Given the description of an element on the screen output the (x, y) to click on. 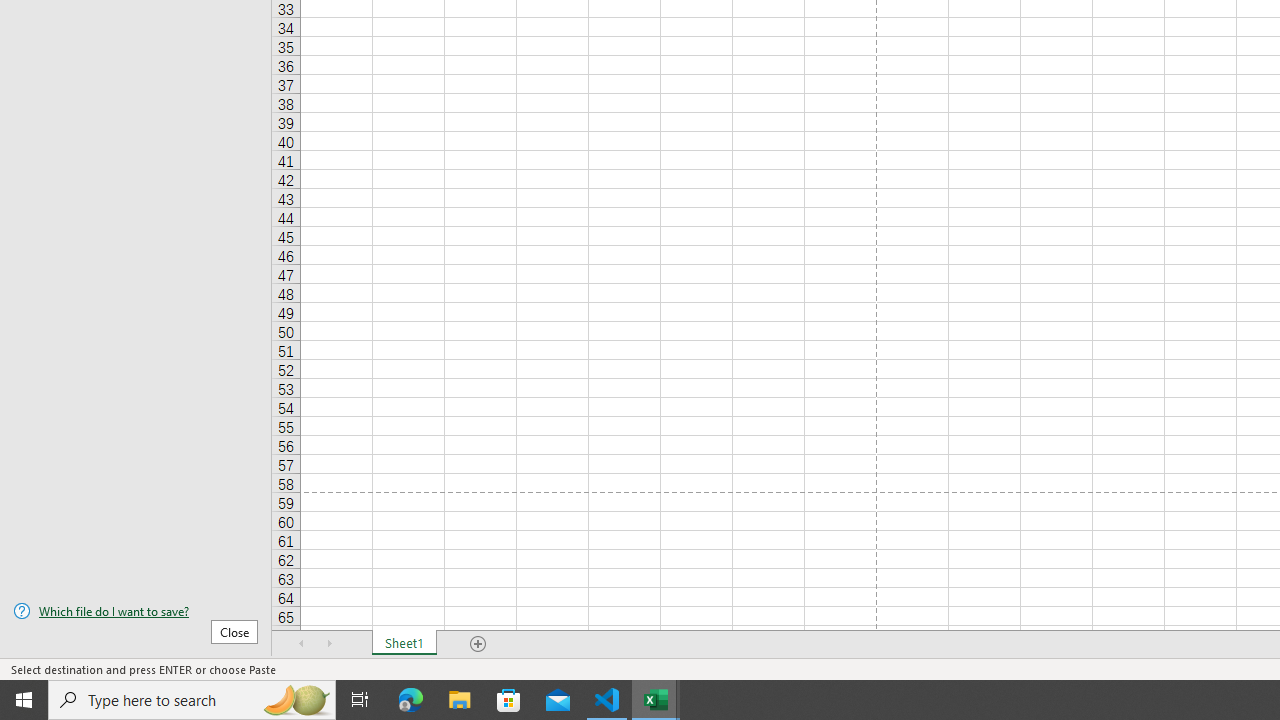
Which file do I want to save? (136, 611)
